Given the description of an element on the screen output the (x, y) to click on. 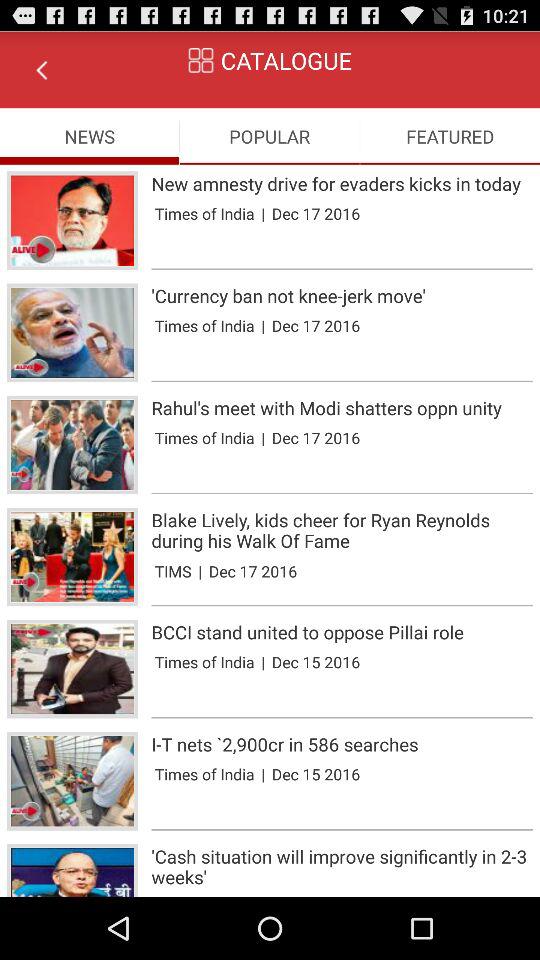
open rahul s meet app (342, 407)
